Given the description of an element on the screen output the (x, y) to click on. 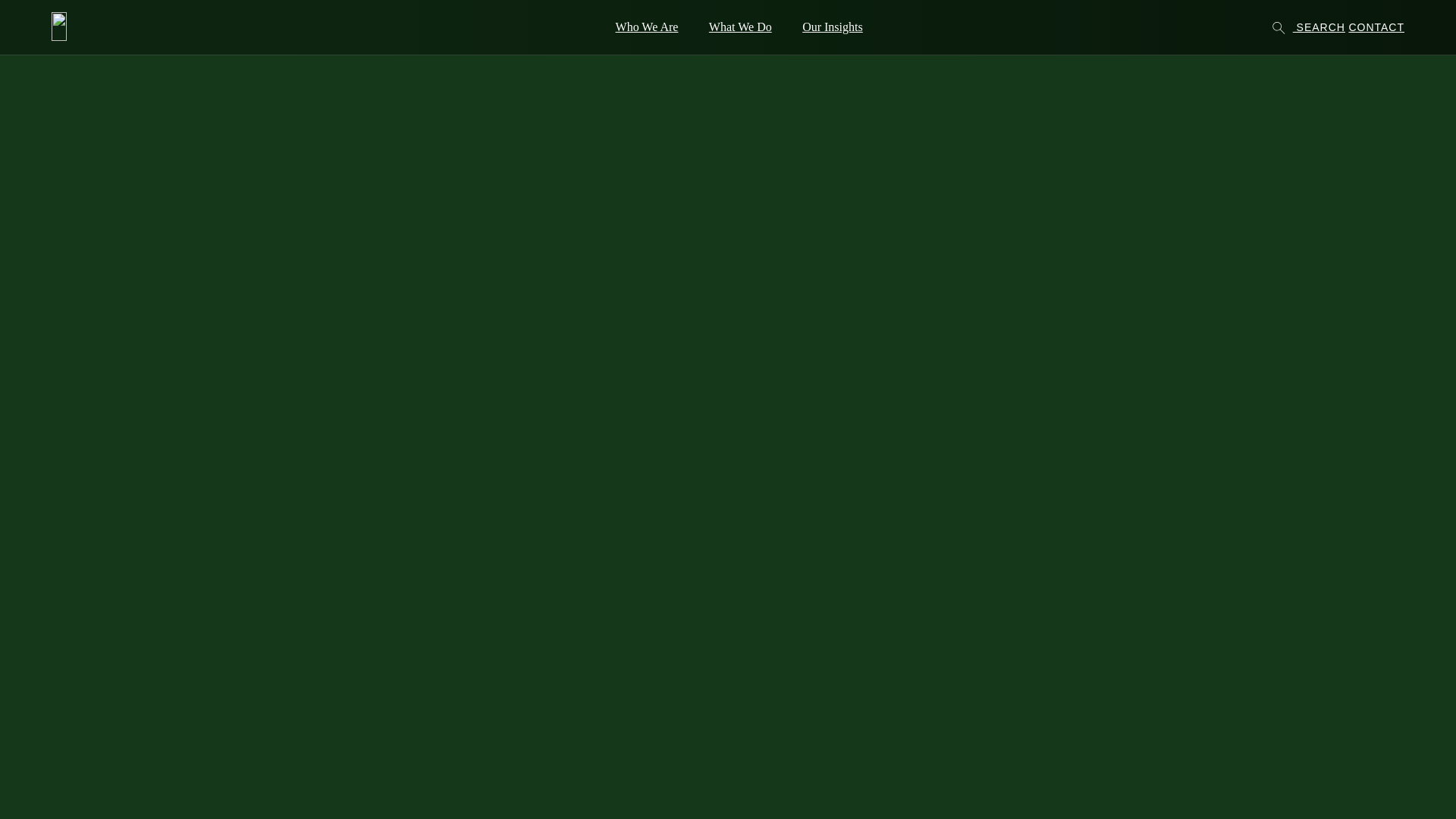
Our Insights (832, 27)
What We Do (740, 27)
Who We Are (647, 27)
CONTACT (1376, 27)
SEARCH (1308, 27)
